Given the description of an element on the screen output the (x, y) to click on. 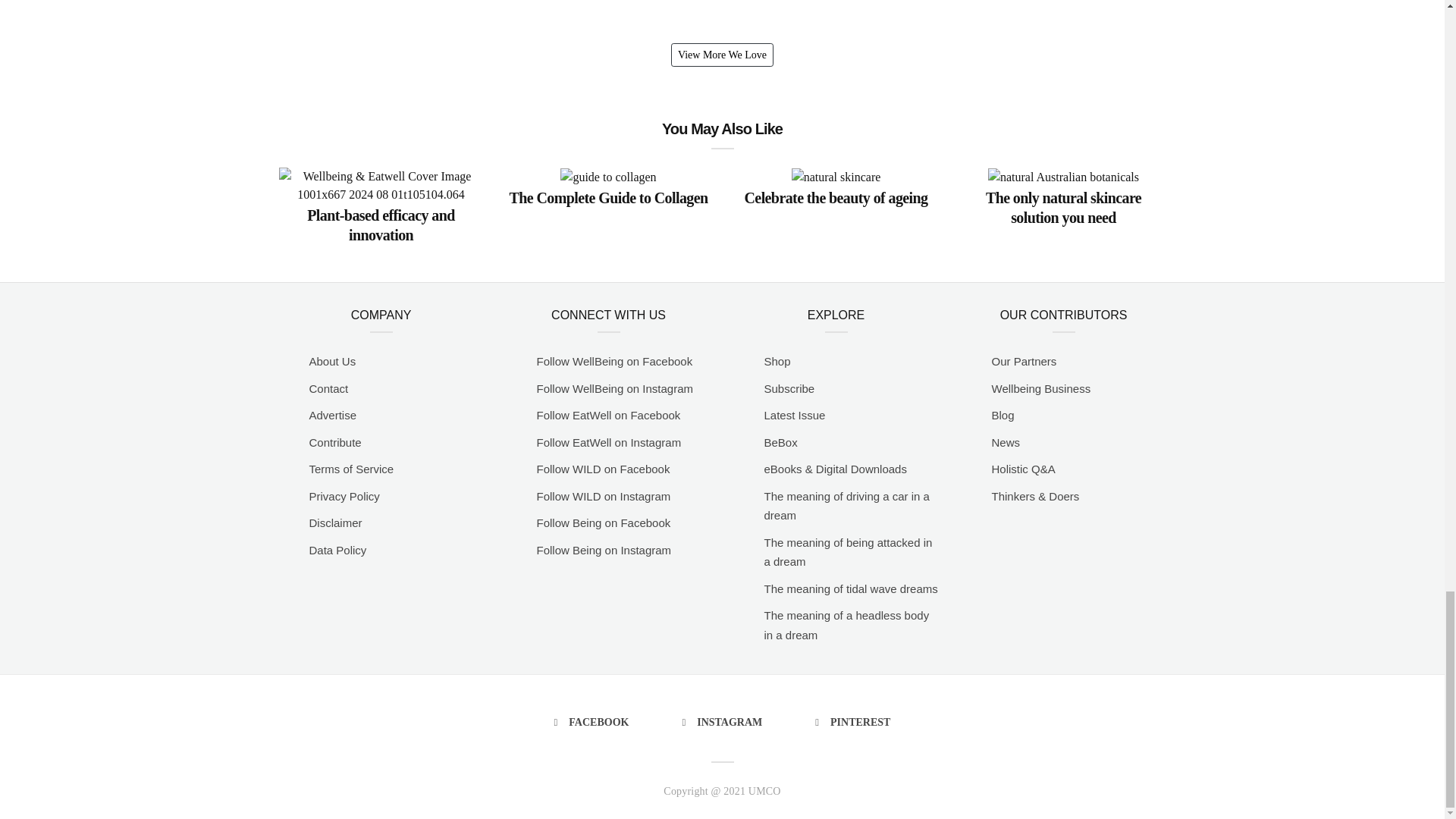
Plant-based efficacy and innovation (380, 223)
The Complete Guide to Collagen (608, 195)
View More We Love (722, 54)
Celebrate the beauty of ageing (836, 195)
